Given the description of an element on the screen output the (x, y) to click on. 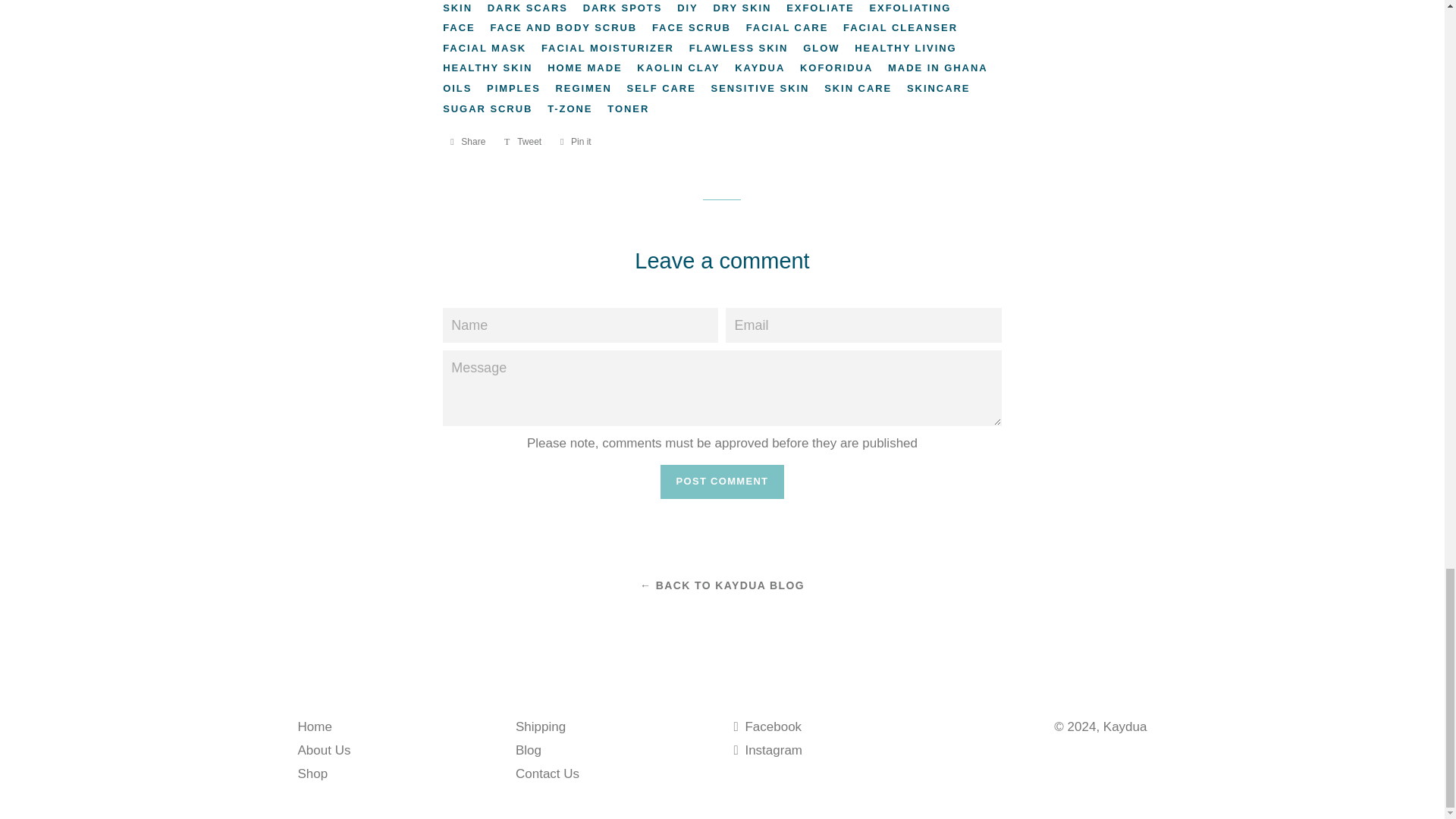
Share on Facebook (467, 141)
Kaydua on Facebook (767, 726)
DRY SKIN (748, 8)
Kaydua on Instagram (768, 749)
Tweet on Twitter (522, 141)
DARK SCARS (533, 8)
COMBINATION SKIN (704, 8)
DARK SPOTS (628, 8)
Pin on Pinterest (575, 141)
Post comment (722, 481)
